Given the description of an element on the screen output the (x, y) to click on. 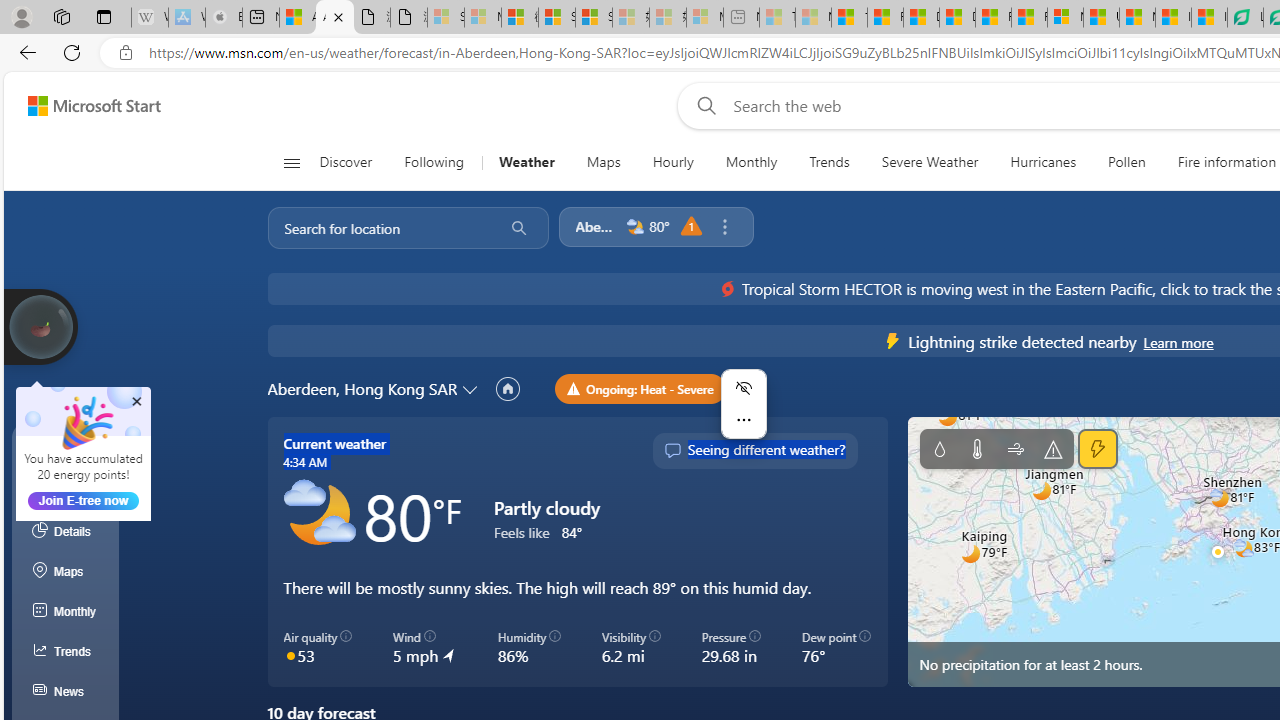
Monthly (65, 611)
Current (65, 451)
Partly cloudy (318, 514)
Class: weatherEventAlertIcon-DS-EntryPoint1-1 (893, 340)
Visibility 6.2 mi (630, 647)
